Given the description of an element on the screen output the (x, y) to click on. 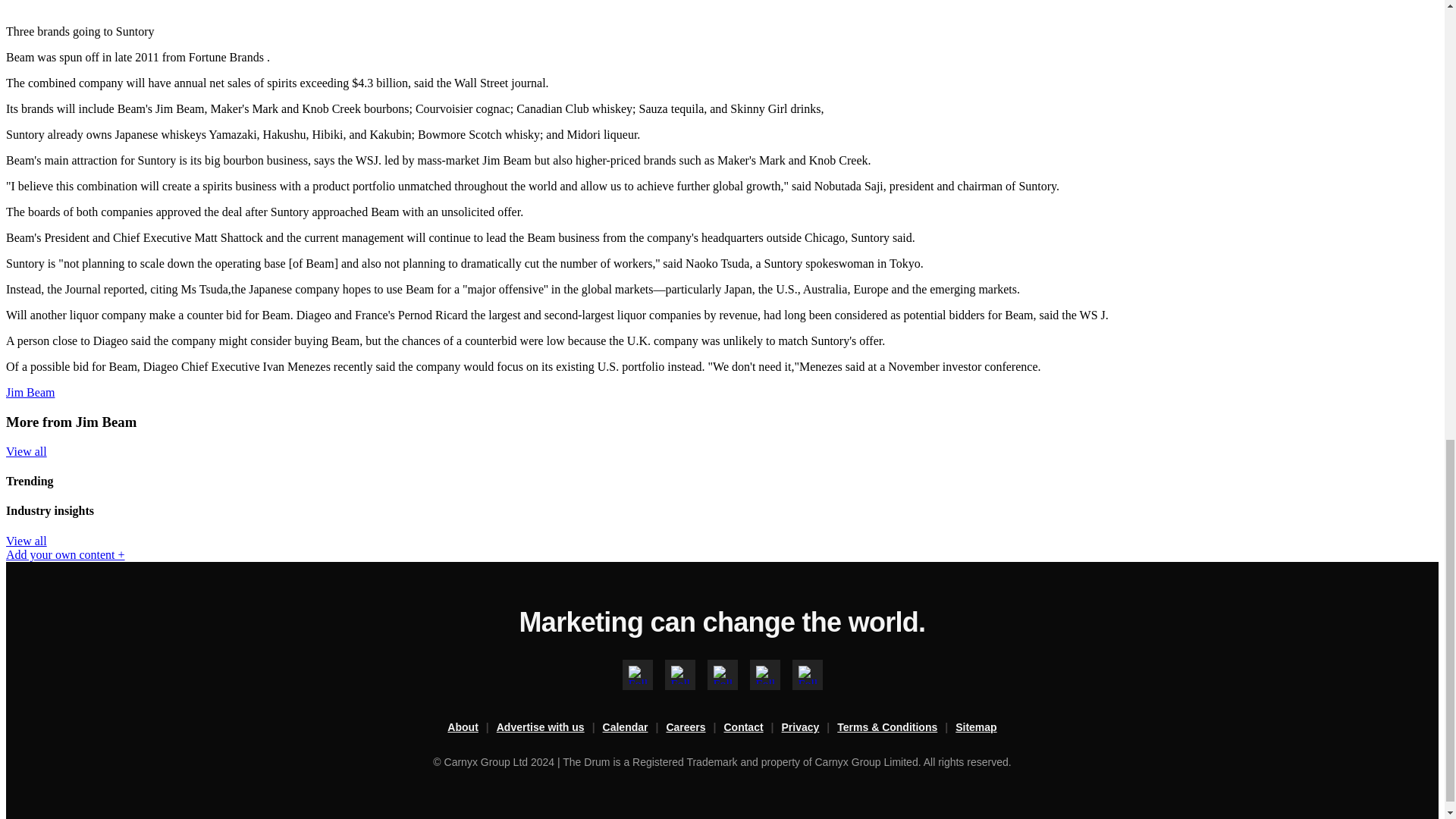
View all (25, 451)
Calendar (634, 728)
Careers (694, 728)
About (471, 728)
Jim Beam (30, 391)
Advertise with us (549, 728)
View all (25, 540)
Sitemap (975, 728)
Contact (751, 728)
Privacy (809, 728)
